Given the description of an element on the screen output the (x, y) to click on. 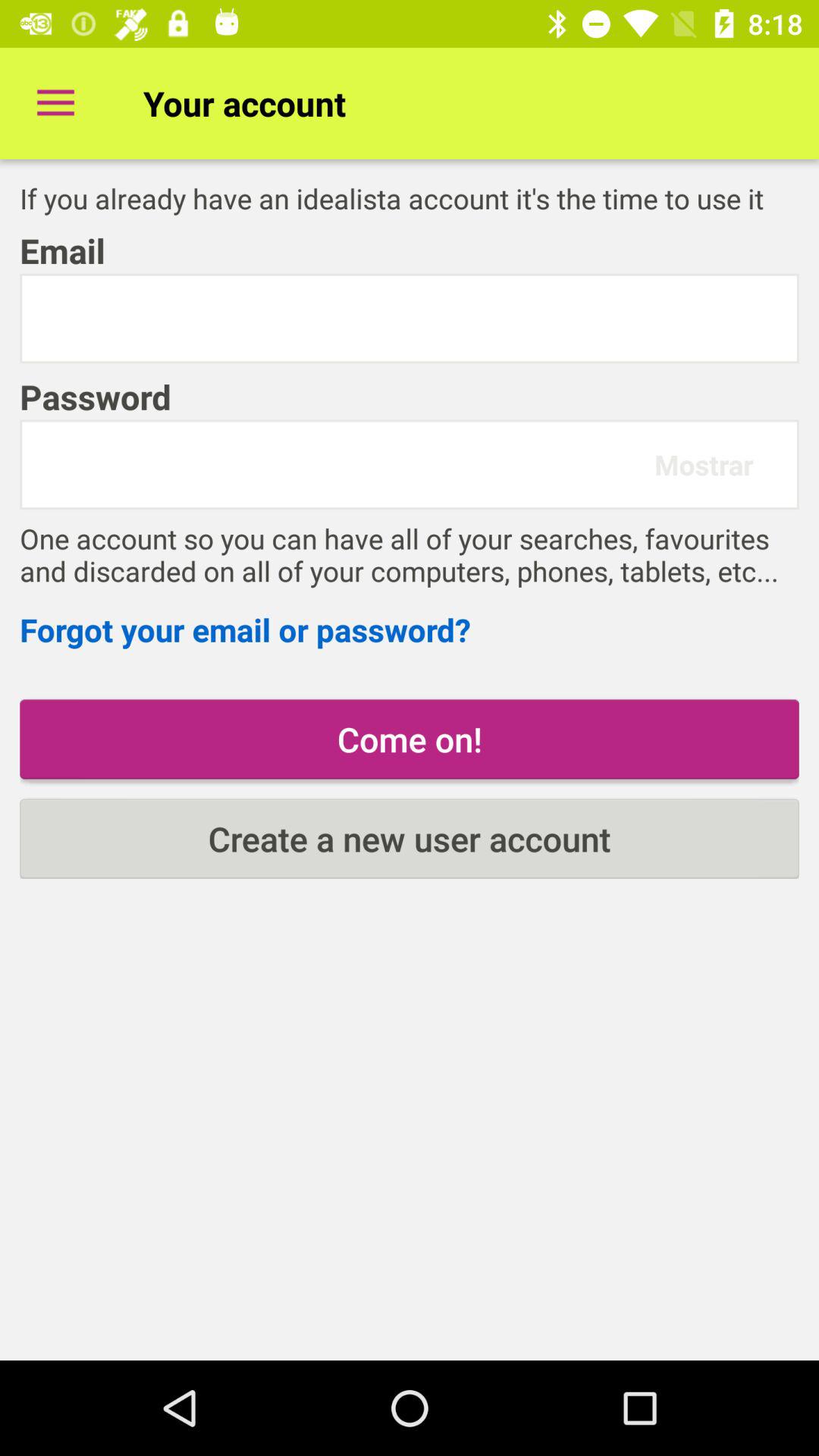
click icon above password icon (409, 318)
